Given the description of an element on the screen output the (x, y) to click on. 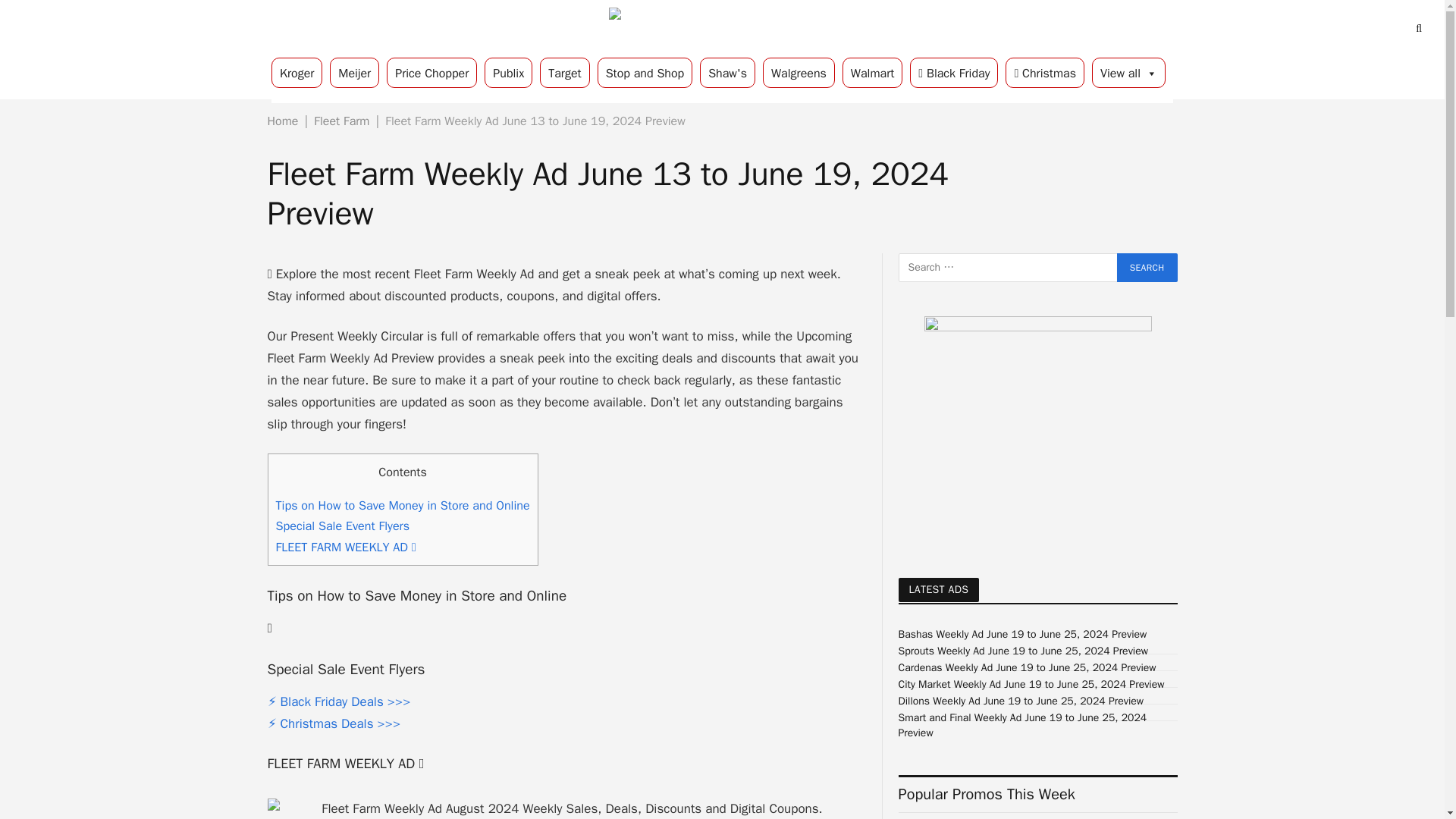
Search (1146, 267)
Weekly Ad Shop (721, 28)
Search (1146, 267)
fleet farm weekly ad june 13 19 1 (565, 808)
